Given the description of an element on the screen output the (x, y) to click on. 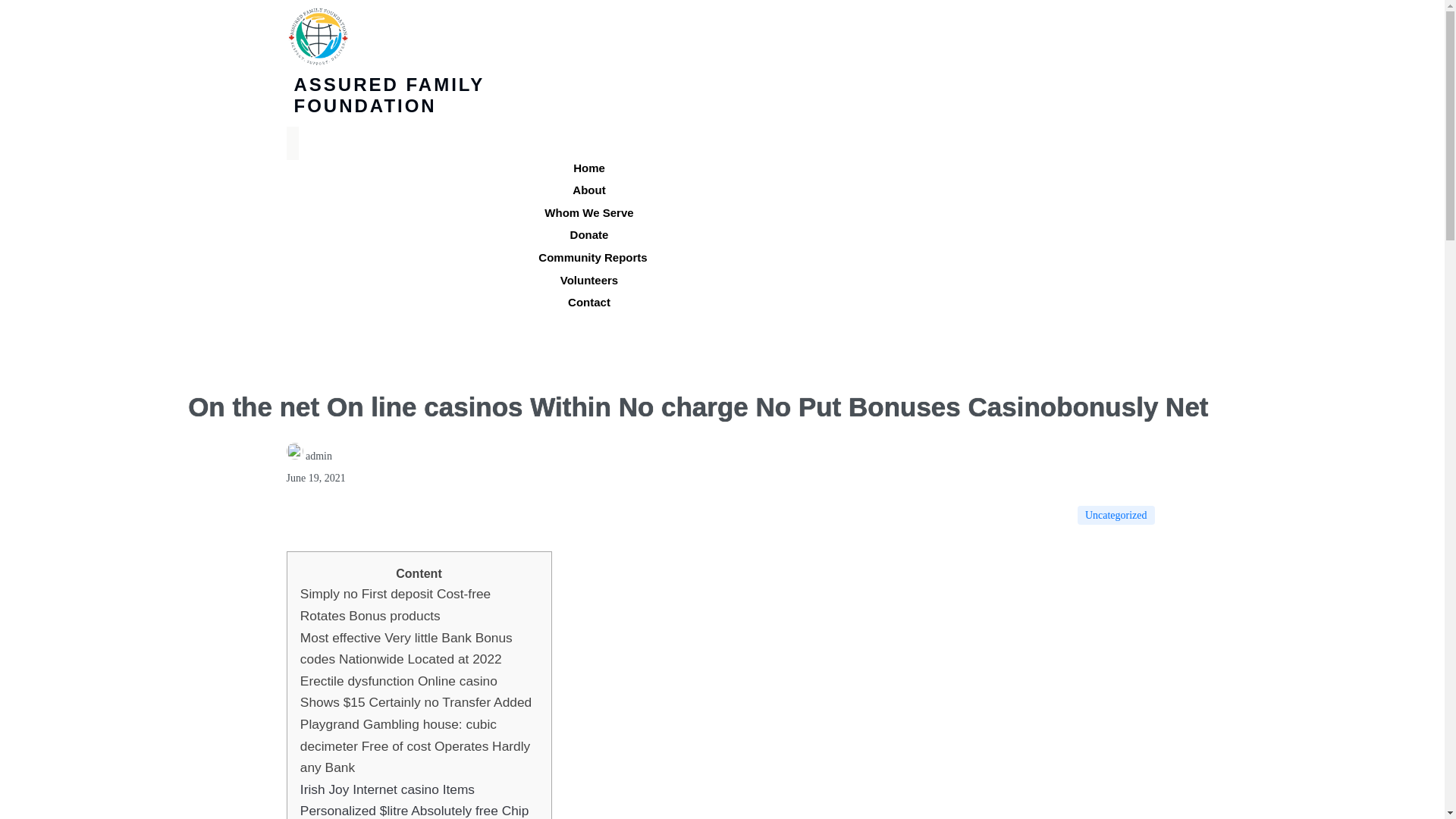
June 19, 2021 (316, 478)
About (588, 189)
Community Reports (592, 257)
admin (309, 455)
ASSURED FAMILY FOUNDATION (411, 86)
Donate (589, 234)
Home (588, 167)
Contact (588, 302)
Whom We Serve (588, 212)
Uncategorized (1115, 514)
